Given the description of an element on the screen output the (x, y) to click on. 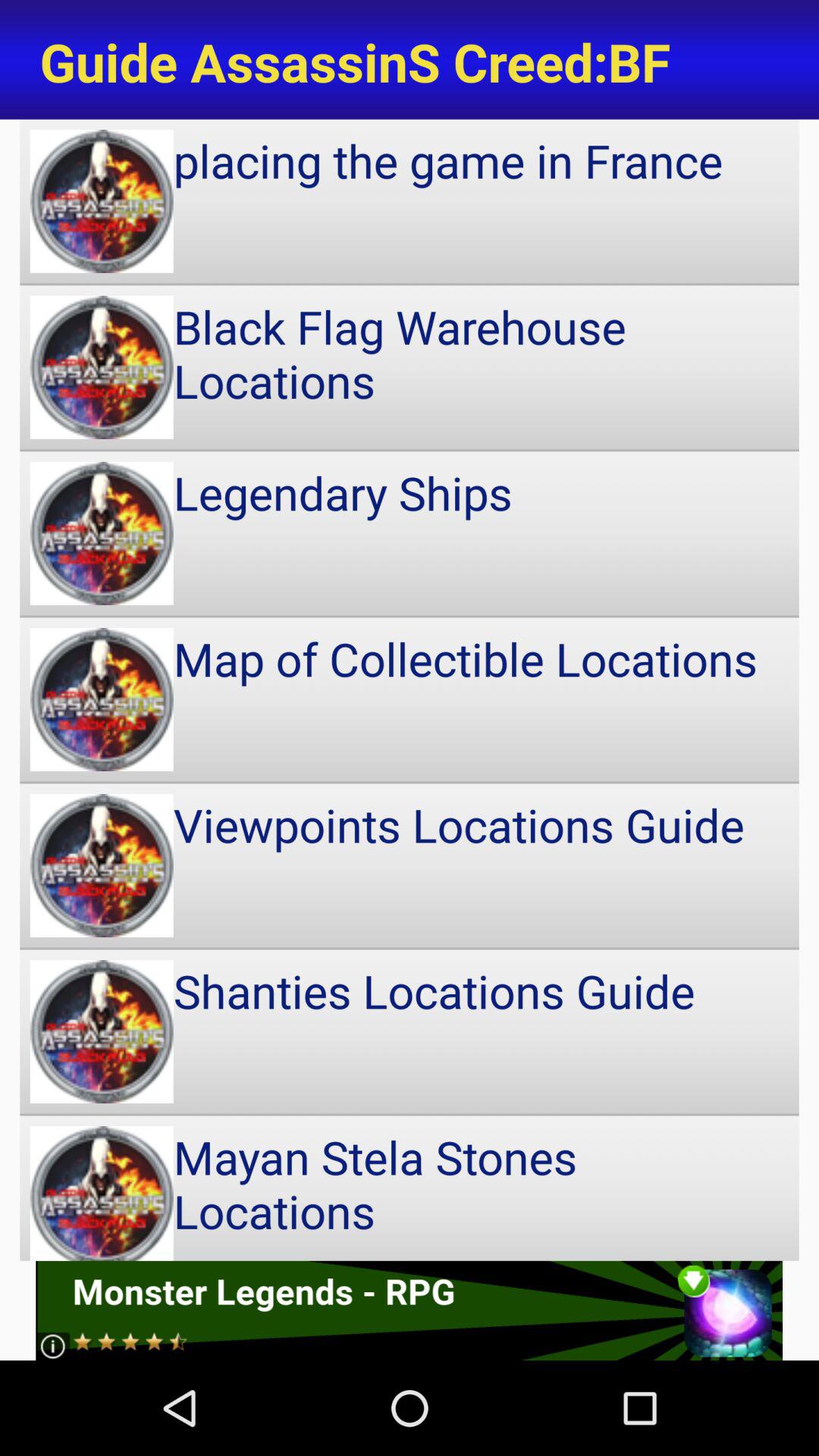
launch the legendary ships item (409, 533)
